Given the description of an element on the screen output the (x, y) to click on. 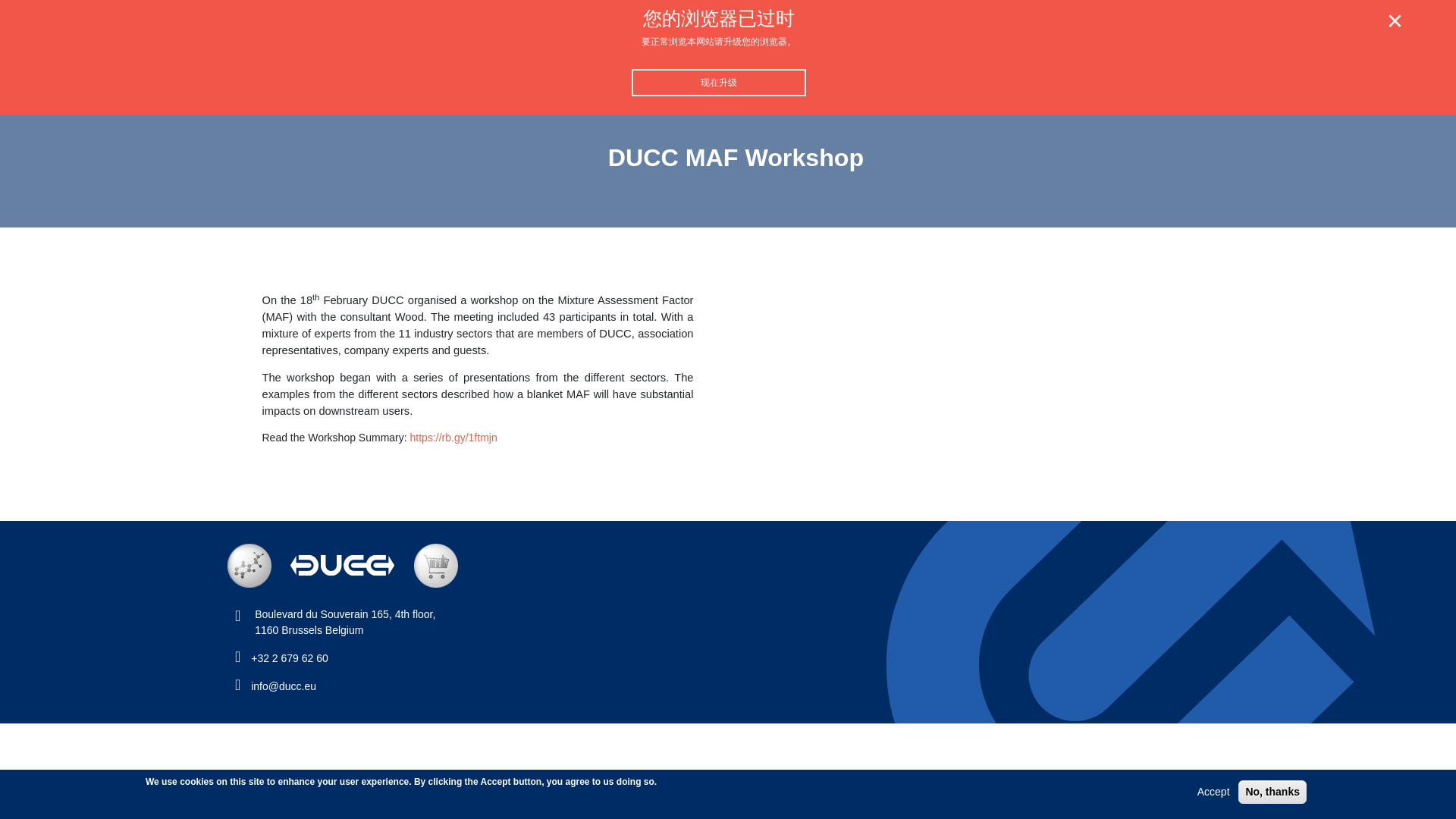
Priorities (837, 54)
Resources (925, 54)
About DUCC (743, 54)
MEMBERS AREA (344, 622)
CONTACT (1054, 54)
